Given the description of an element on the screen output the (x, y) to click on. 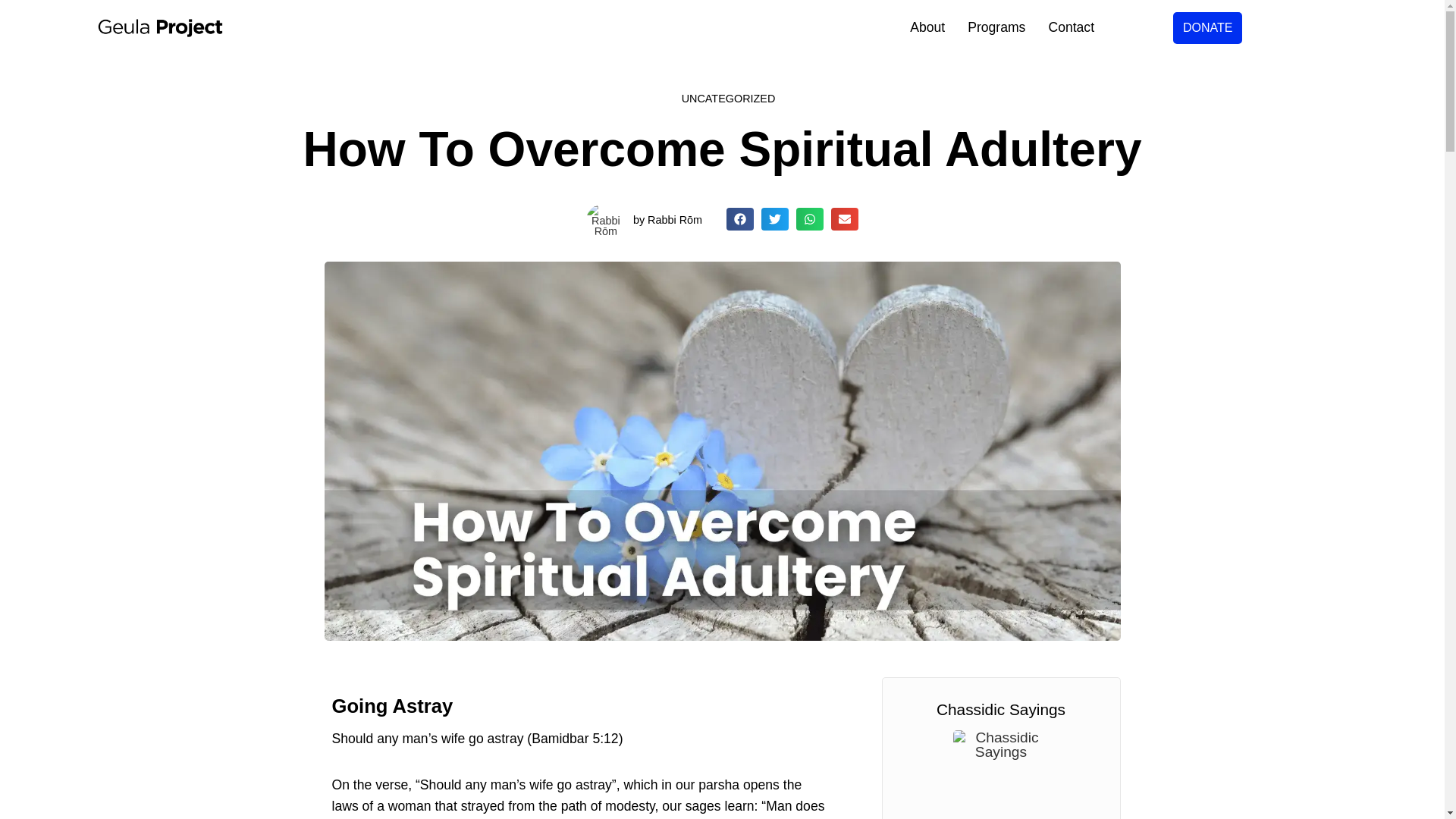
DONATE (1207, 28)
About (927, 27)
Programs (996, 27)
Contact (1071, 27)
